Given the description of an element on the screen output the (x, y) to click on. 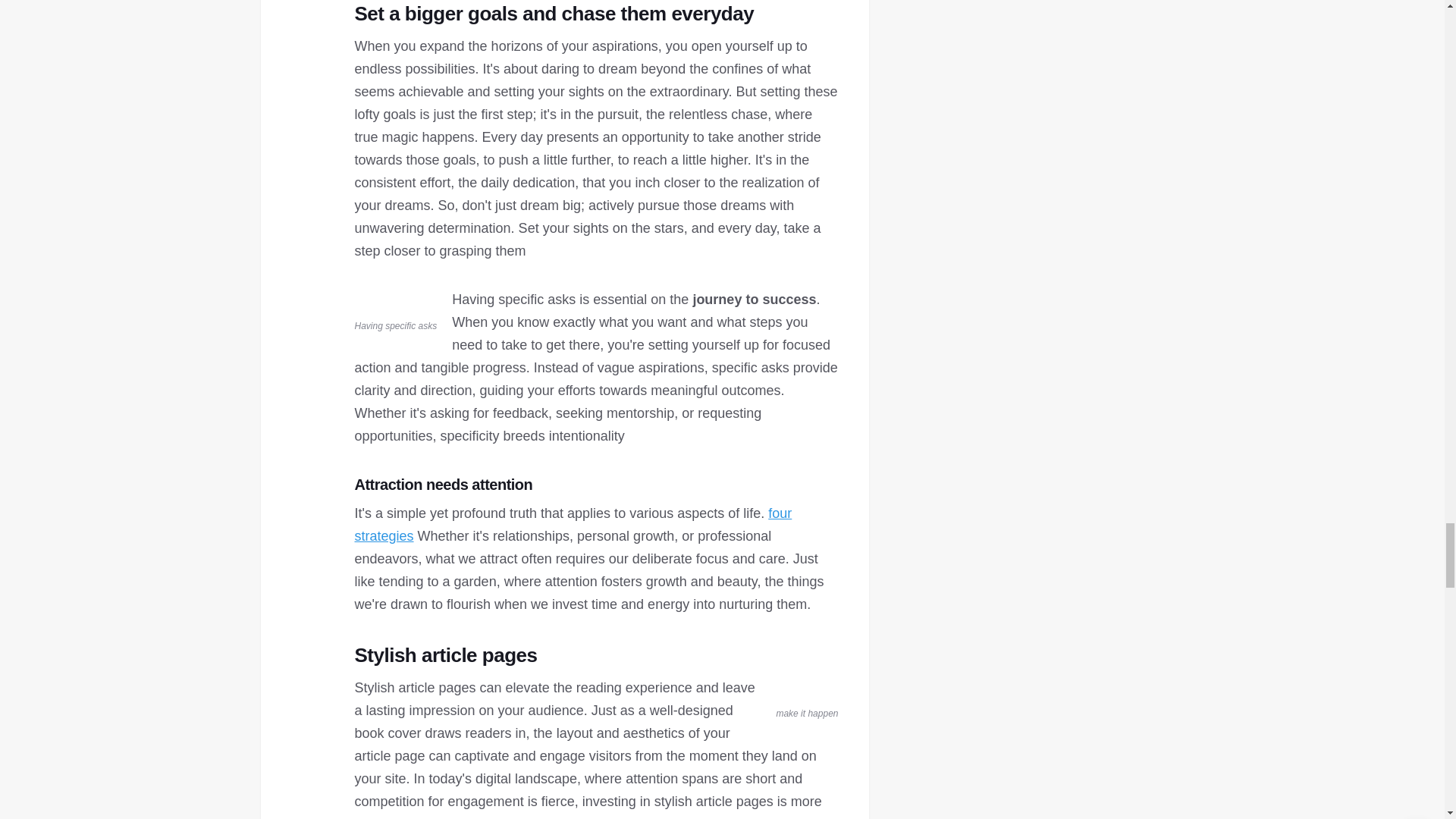
Having specific tasks (396, 313)
four strategies (573, 524)
make it happen (807, 702)
Having specific asks (396, 313)
